Given the description of an element on the screen output the (x, y) to click on. 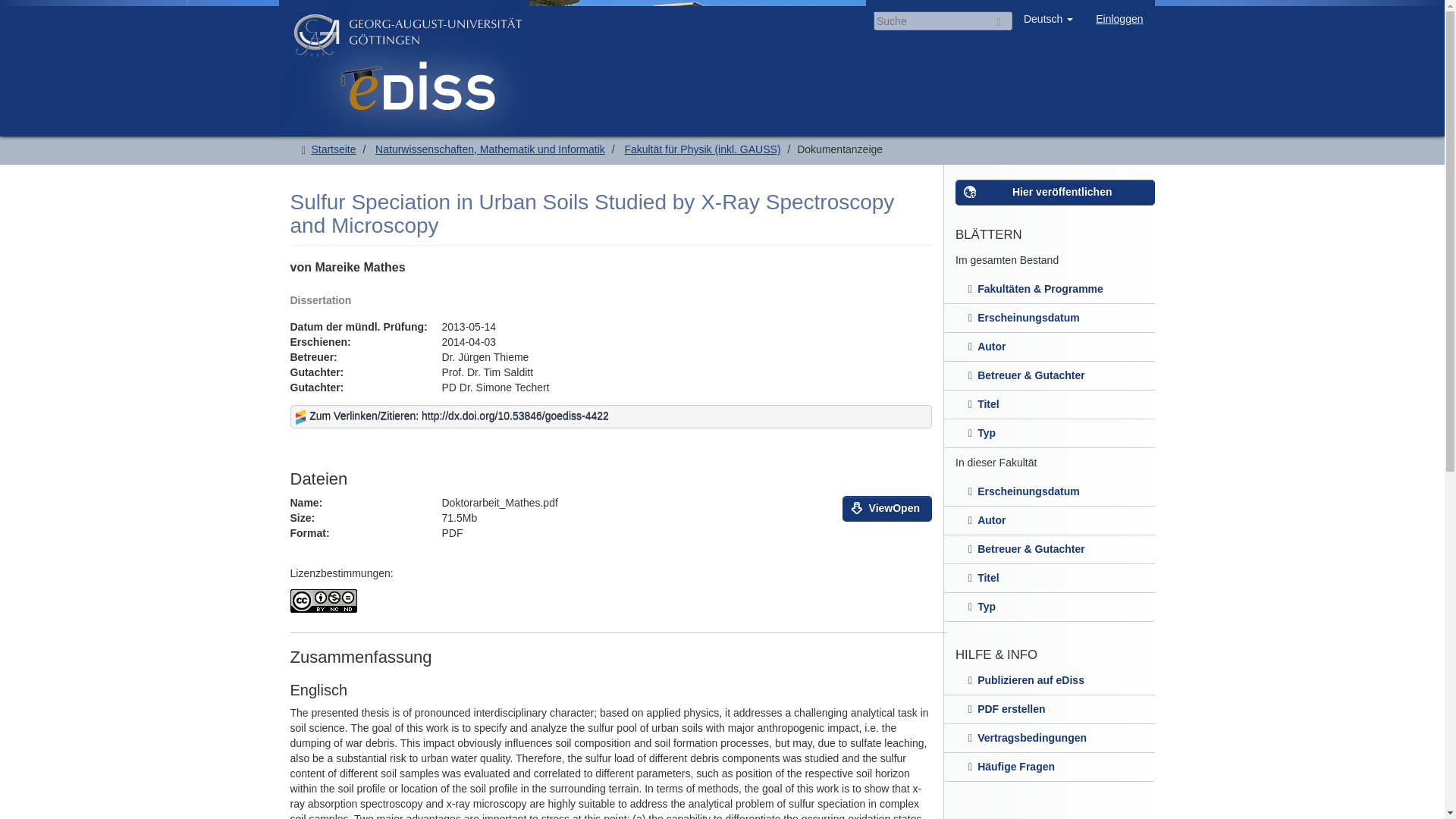
Startseite (333, 149)
Autor (1048, 346)
Crossref Data with citation generator (302, 415)
Naturwissenschaften, Mathematik und Informatik (490, 149)
ViewOpen (887, 508)
Deutsch  (1047, 18)
Einloggen (1119, 18)
Erscheinungsdatum (1048, 317)
Im gesamten Bestand (1048, 260)
